Given the description of an element on the screen output the (x, y) to click on. 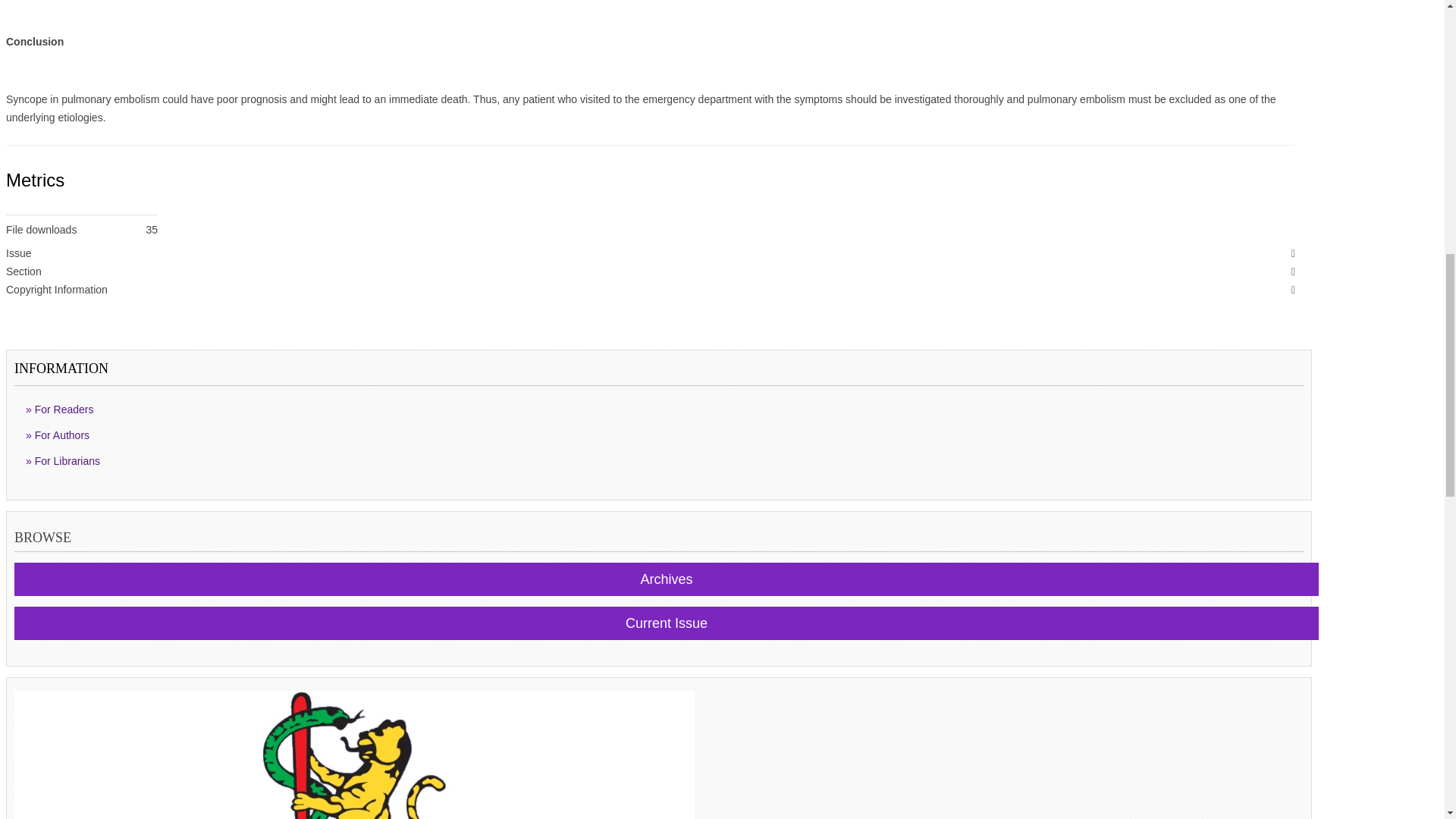
Archives (666, 579)
For Authors (662, 434)
For Librarians (662, 460)
For Readers (662, 409)
Current Issue (666, 622)
